Given the description of an element on the screen output the (x, y) to click on. 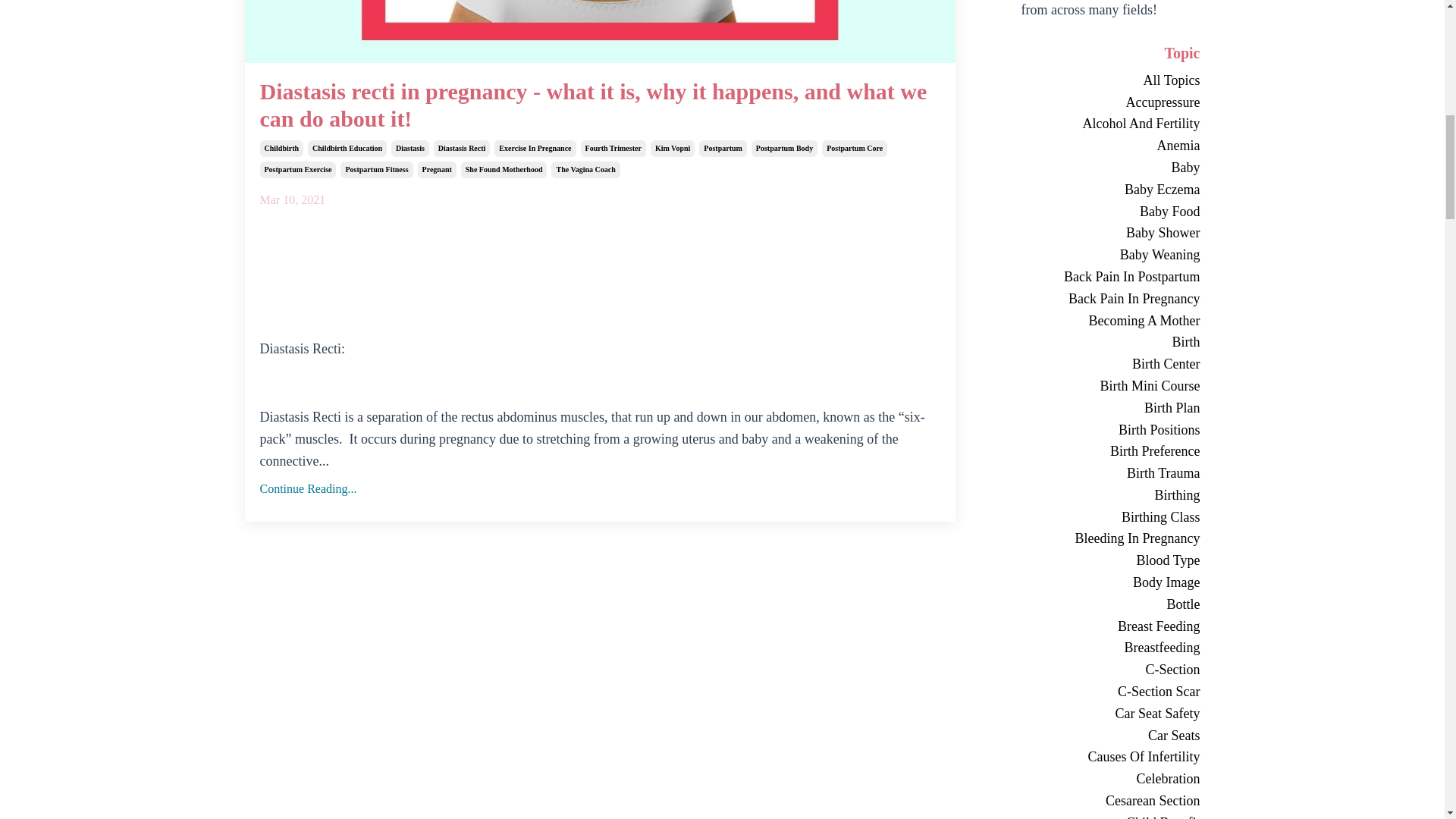
Childbirth Education (347, 148)
Baby Shower (1088, 232)
Back Pain In Pregnancy (1088, 299)
Postpartum (722, 148)
She Found Motherhood (504, 169)
Accupressure (1088, 102)
The Vagina Coach (585, 169)
Exercise In Pregnance (535, 148)
Fourth Trimester (613, 148)
Alcohol And Fertility (1088, 124)
Pregnant (437, 169)
Baby Weaning (1088, 255)
Kim Vopni (672, 148)
Postpartum Exercise (297, 169)
All Topics (1088, 80)
